Given the description of an element on the screen output the (x, y) to click on. 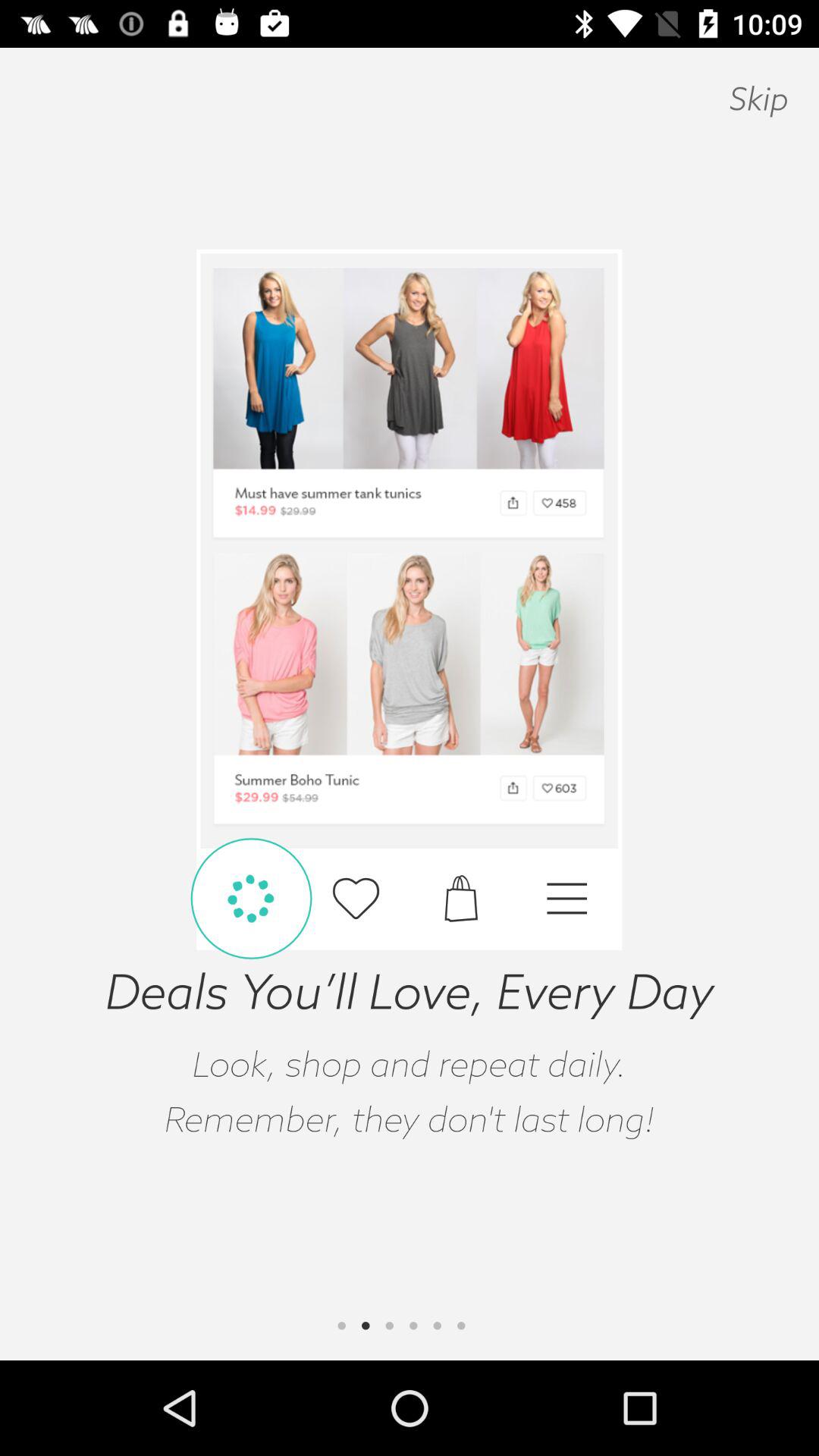
scroll to skip item (758, 98)
